Given the description of an element on the screen output the (x, y) to click on. 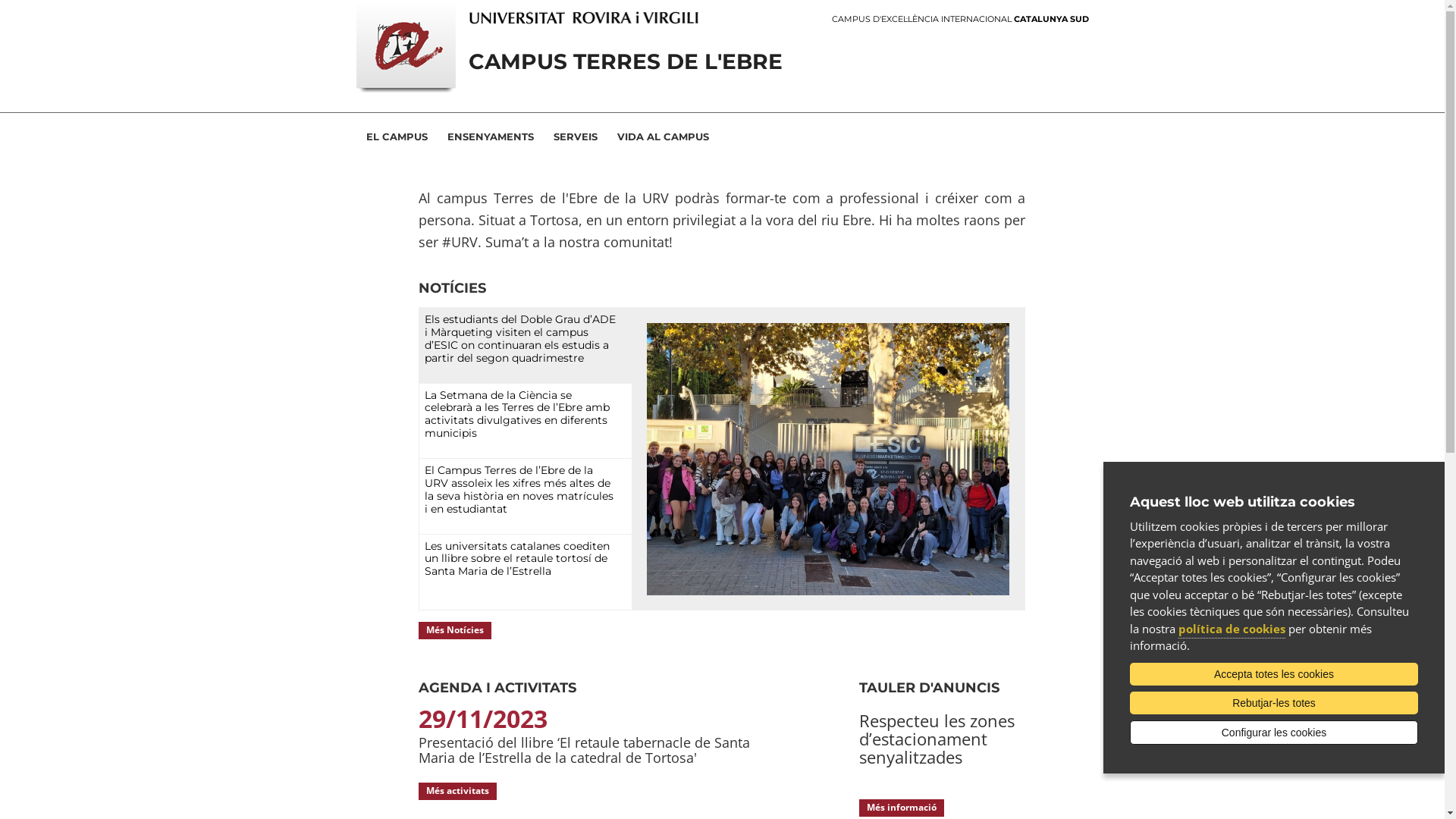
SERVEIS Element type: text (574, 136)
EL CAMPUS Element type: text (396, 136)
ENSENYAMENTS Element type: text (489, 136)
Configurar les cookies Element type: text (1273, 732)
Rebutjar-les totes Element type: text (1273, 702)
Accepta totes les cookies Element type: text (1273, 673)
VIDA AL CAMPUS Element type: text (662, 136)
